Given the description of an element on the screen output the (x, y) to click on. 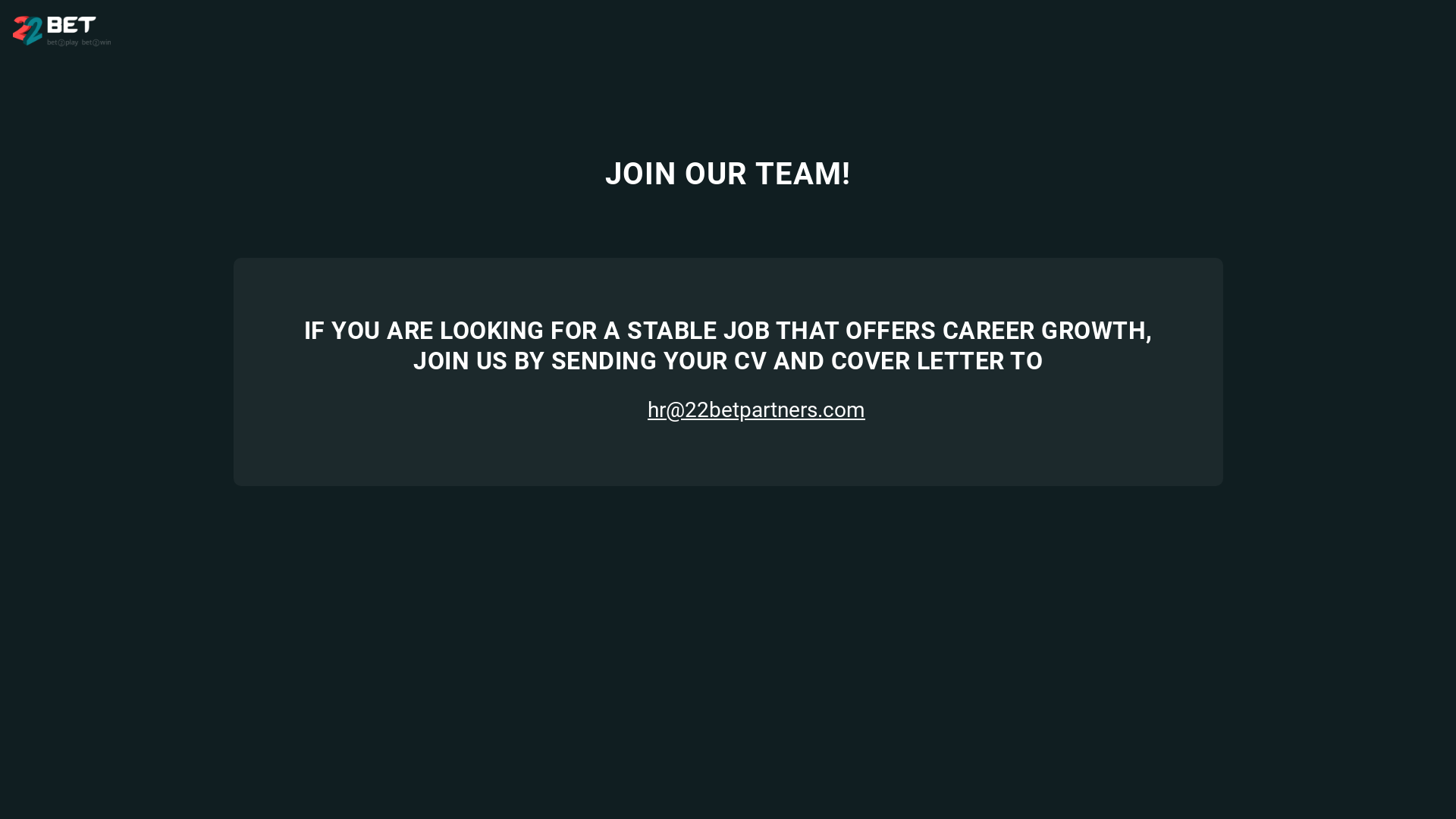
hr@22betpartners.com Element type: text (727, 410)
